Given the description of an element on the screen output the (x, y) to click on. 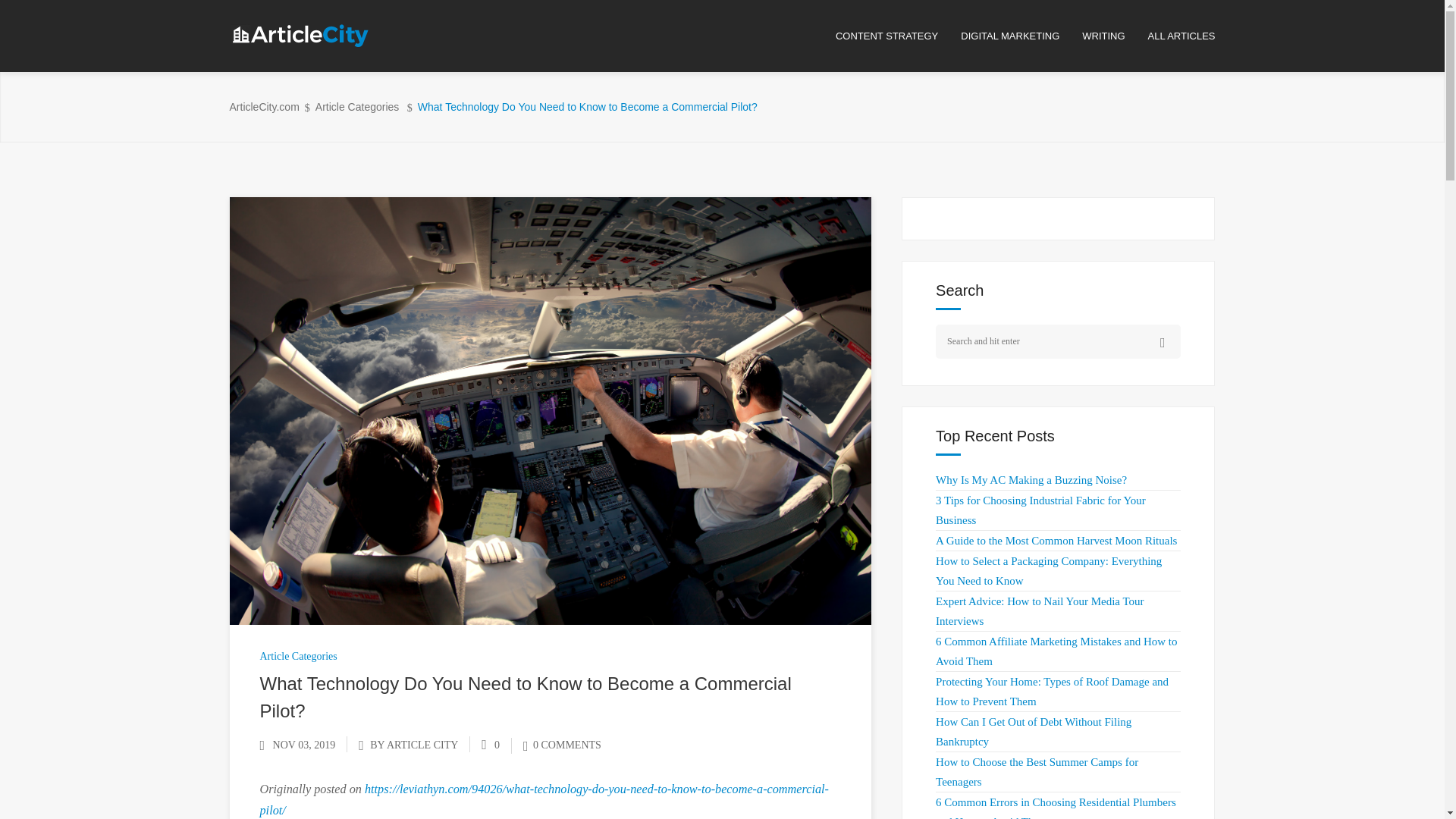
Article Categories (356, 107)
WRITING (1114, 36)
0 COMMENTS (561, 745)
6 Common Affiliate Marketing Mistakes and How to Avoid Them (1056, 651)
Expert Advice: How to Nail Your Media Tour Interviews (1039, 611)
CONTENT STRATEGY (897, 36)
ArticleCity.com (263, 107)
Why Is My AC Making a Buzzing Noise? (1031, 480)
3 Tips for Choosing Industrial Fabric for Your Business (1040, 510)
Article Categories (297, 655)
